Given the description of an element on the screen output the (x, y) to click on. 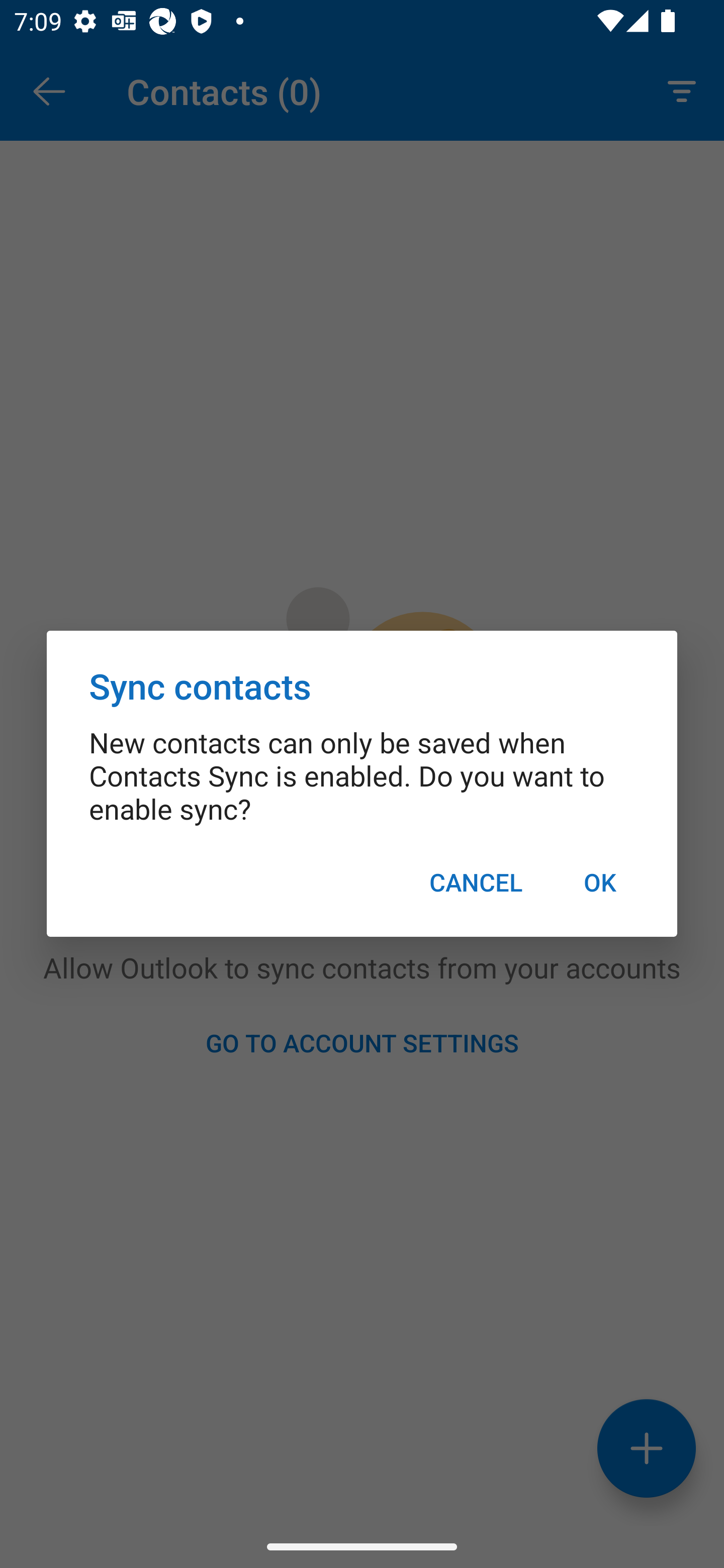
CANCEL (475, 881)
OK (599, 881)
